Given the description of an element on the screen output the (x, y) to click on. 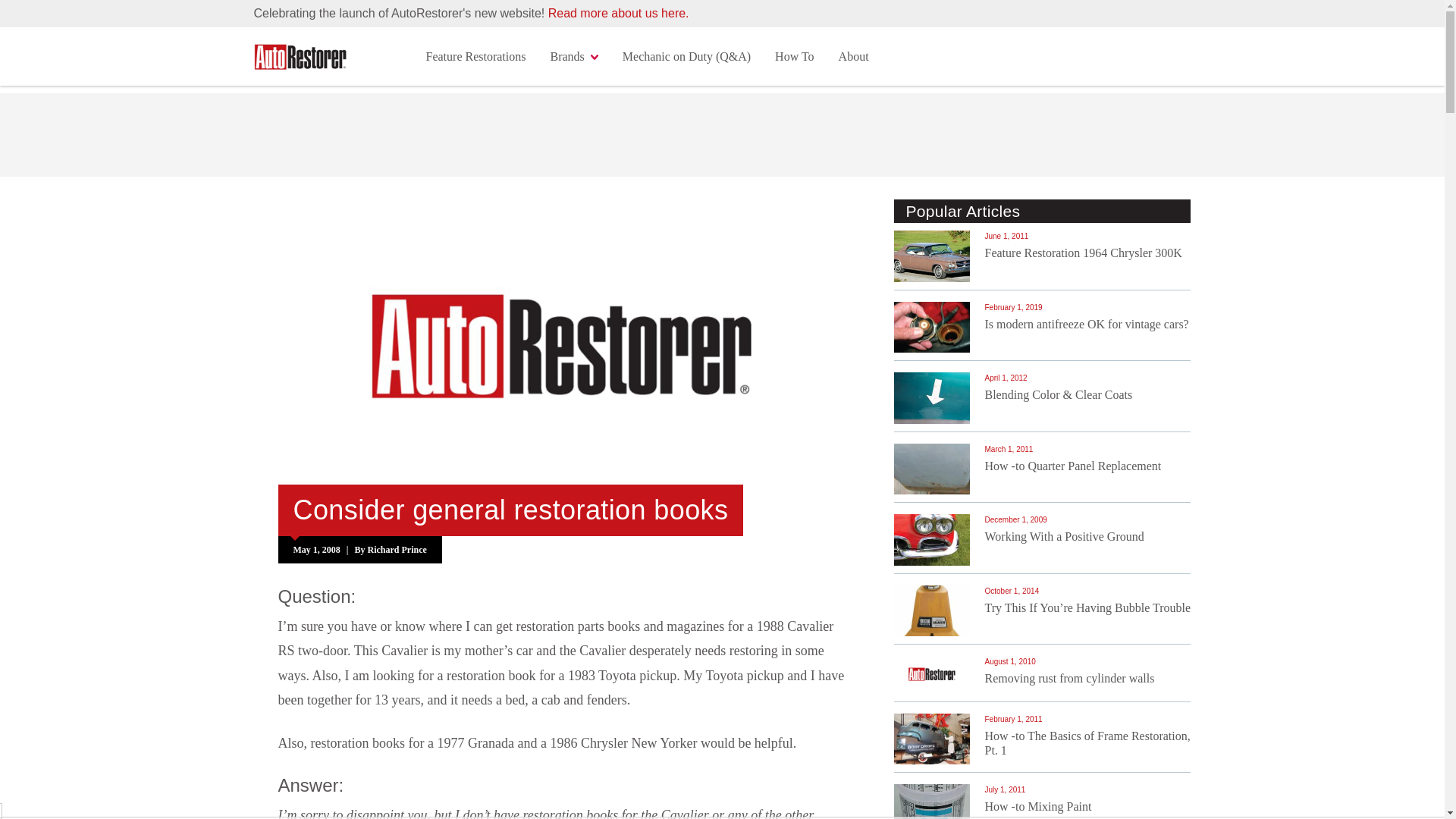
Feature Restorations (475, 56)
How To (793, 56)
Is modern antifreeze OK for vintage cars? (1086, 323)
Feature Restoration 1964 Chrysler 300K (1082, 252)
Read more about us here. (618, 12)
About (853, 56)
Brands (573, 56)
